Given the description of an element on the screen output the (x, y) to click on. 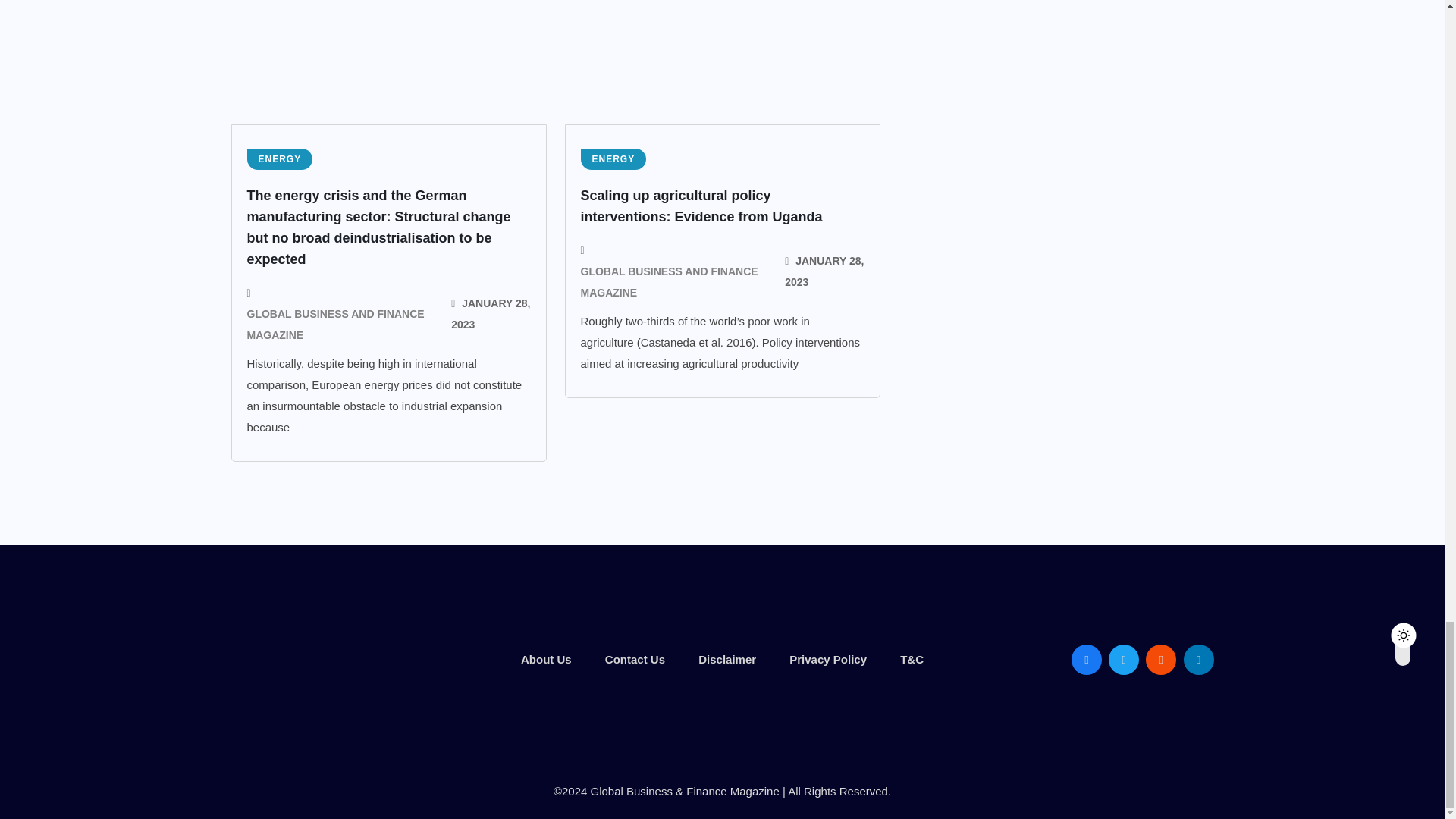
Posts by GLOBAL BUSINESS AND FINANCE MAGAZINE (339, 324)
Posts by GLOBAL BUSINESS AND FINANCE MAGAZINE (673, 282)
